Given the description of an element on the screen output the (x, y) to click on. 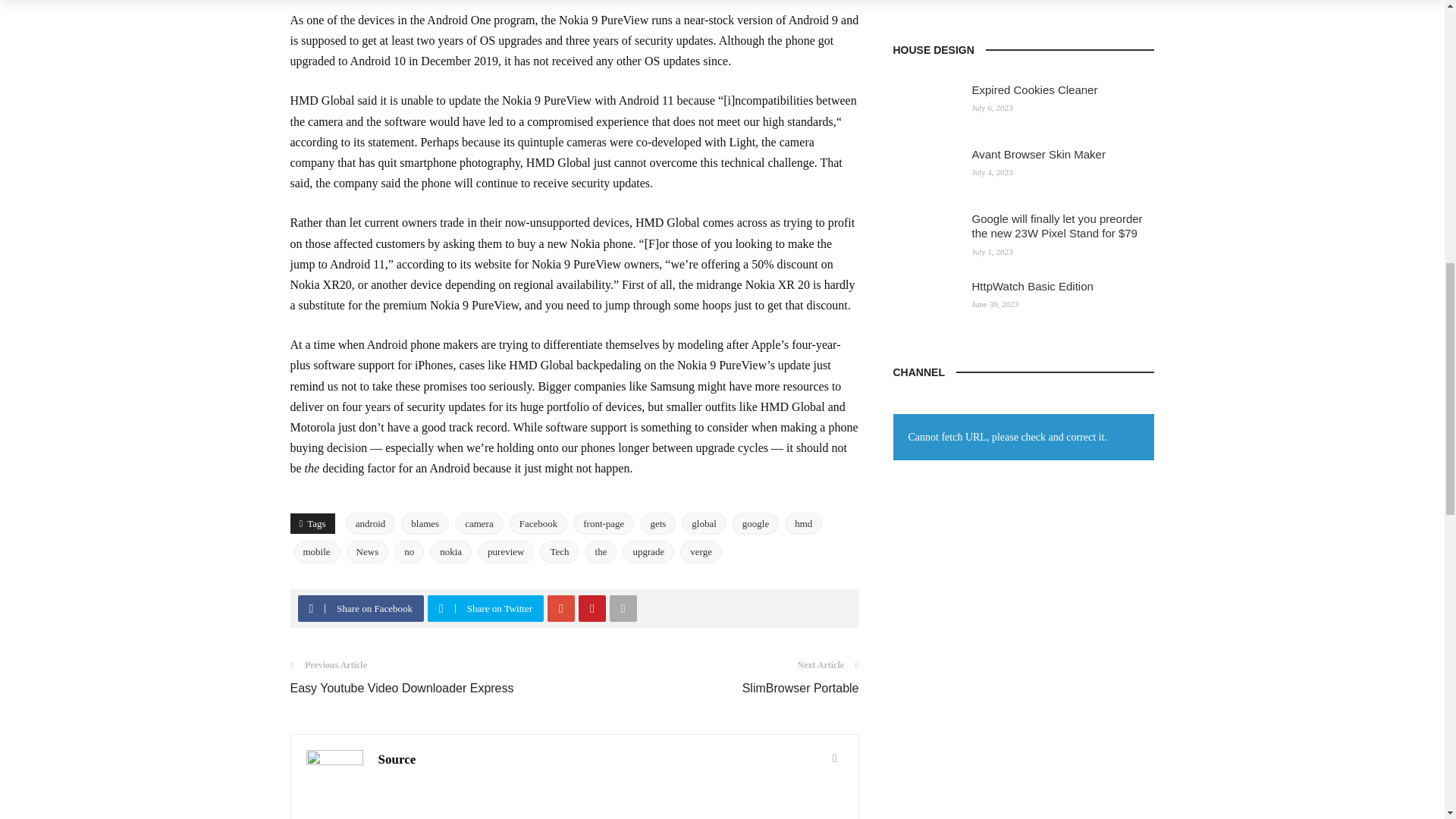
View all posts tagged camera (478, 523)
View all posts tagged Facebook (538, 523)
View all posts tagged front-page (603, 523)
View all posts tagged google (755, 523)
View all posts tagged android (371, 523)
View all posts tagged gets (657, 523)
View all posts tagged global (703, 523)
View all posts tagged blames (424, 523)
